Given the description of an element on the screen output the (x, y) to click on. 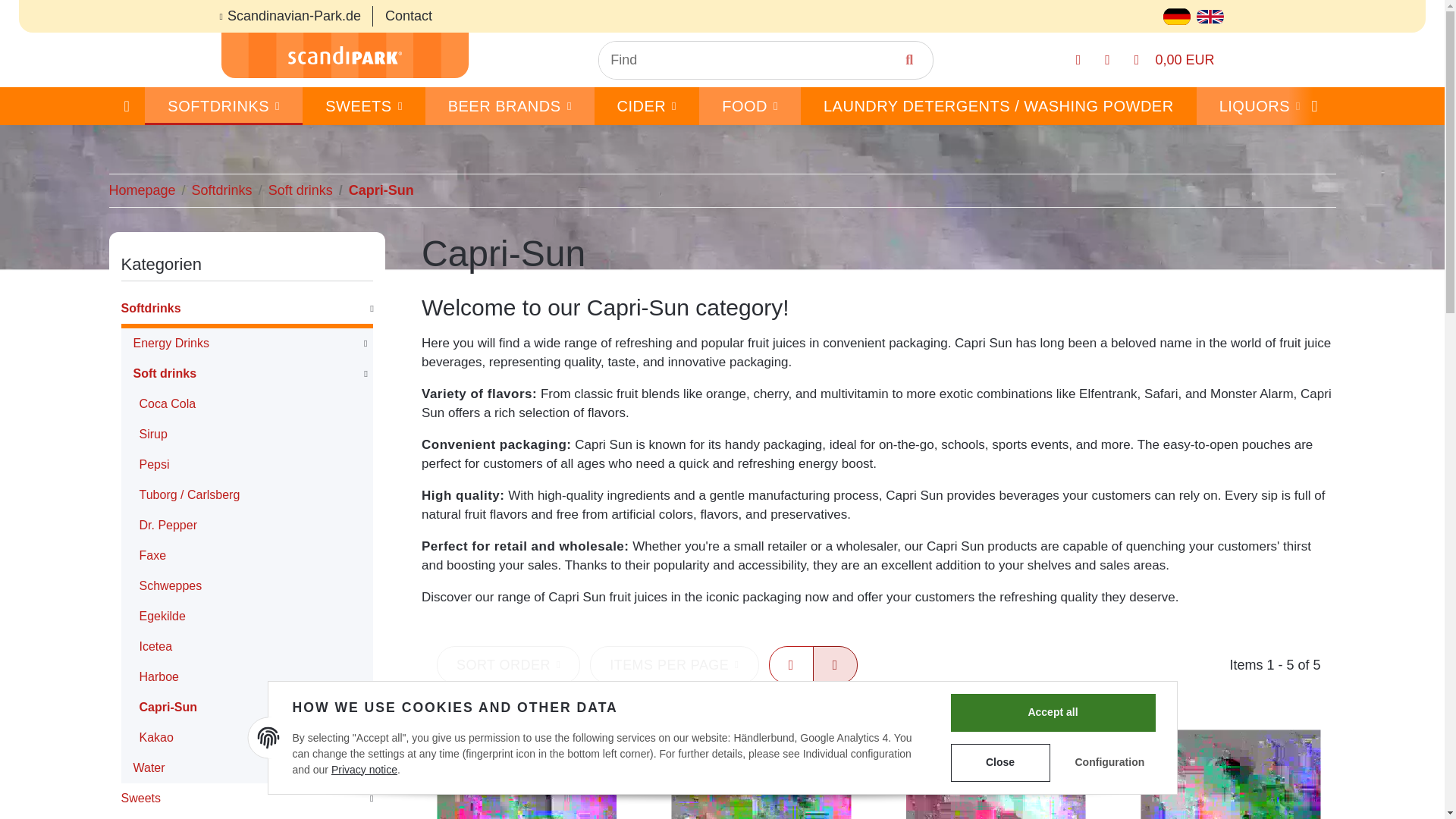
Liquors (1259, 105)
0 (127, 105)
FOOD (749, 105)
beer brands (509, 105)
CIDER (647, 105)
LIQUORS (1259, 105)
Scandinavian Park (344, 54)
Contact-Form (408, 16)
Cider (647, 105)
BEER BRANDS (509, 105)
Switch to english shop (1210, 15)
Switch to the German shop (1177, 15)
SOFTDRINKS (223, 105)
SWEETS (363, 105)
0,00 EUR (1174, 60)
